Given the description of an element on the screen output the (x, y) to click on. 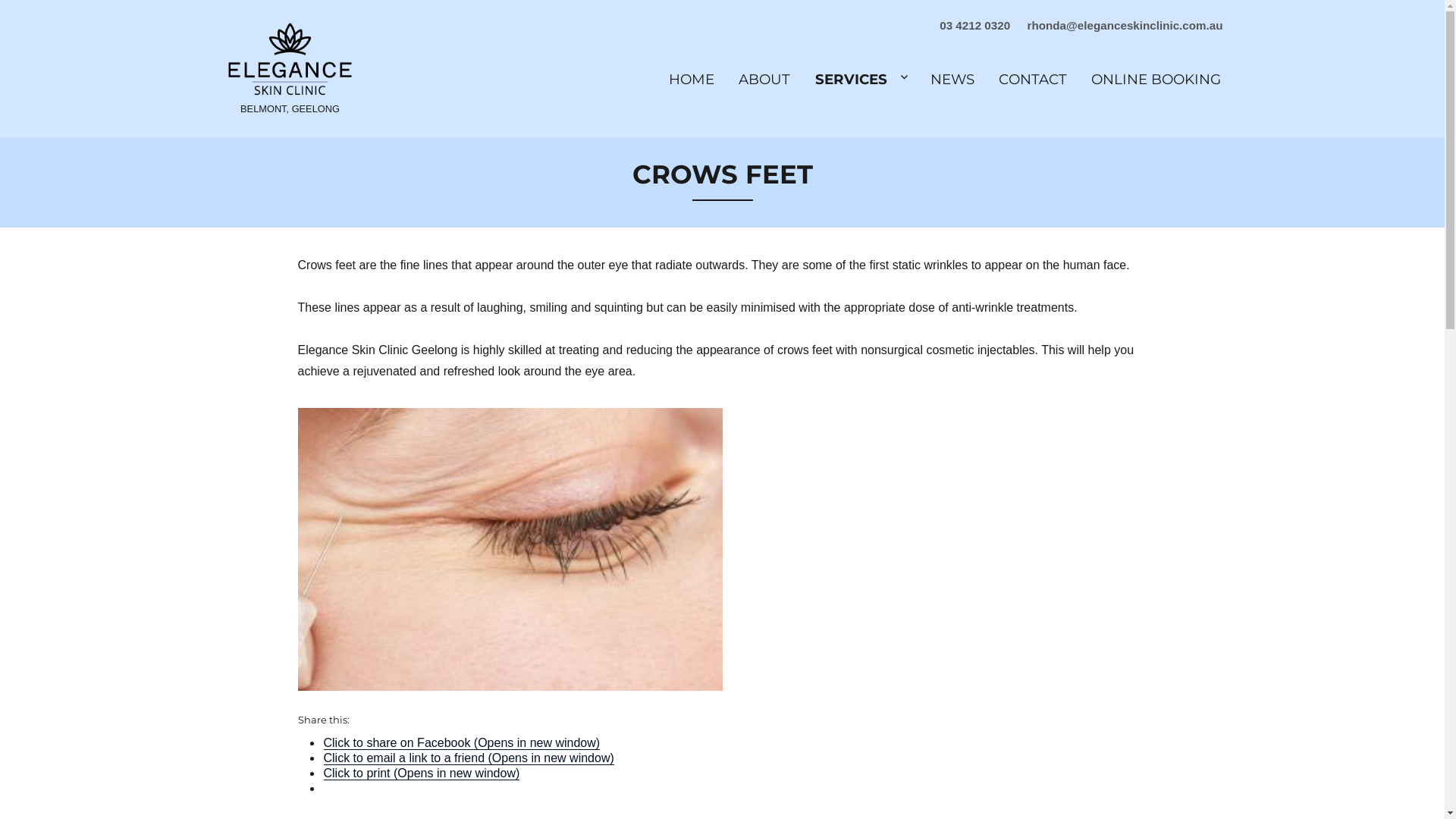
HOME Element type: text (691, 79)
Click to email a link to a friend (Opens in new window) Element type: text (468, 757)
Click to share on Facebook (Opens in new window) Element type: text (461, 742)
SERVICES Element type: text (859, 79)
ABOUT Element type: text (764, 79)
NEWS Element type: text (952, 79)
rhonda@eleganceskinclinic.com.au Element type: text (1118, 24)
Click to print (Opens in new window) Element type: text (421, 772)
Elegance Skin Clinic Element type: text (289, 54)
03 4212 0320 Element type: text (967, 24)
CONTACT Element type: text (1032, 79)
ONLINE BOOKING Element type: text (1156, 79)
